Given the description of an element on the screen output the (x, y) to click on. 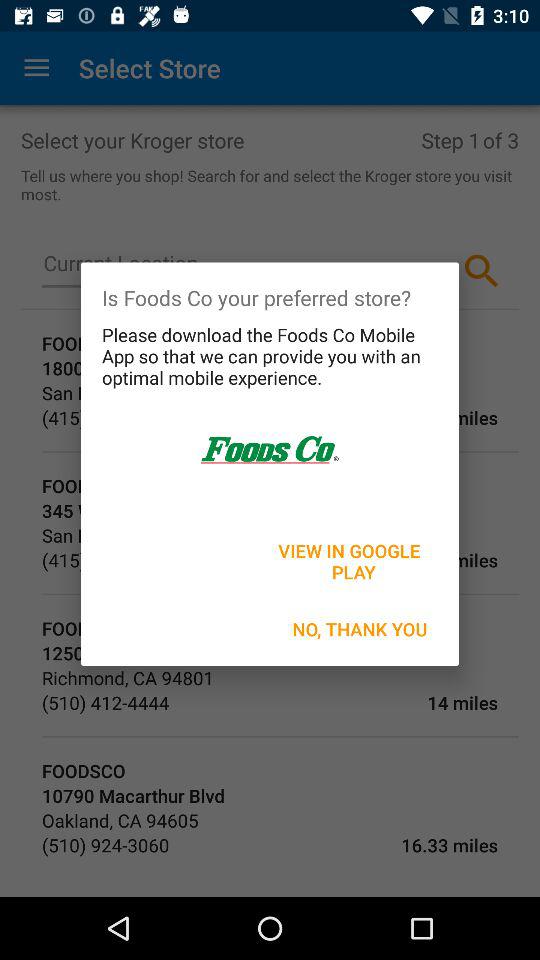
press no, thank you on the right (359, 628)
